Given the description of an element on the screen output the (x, y) to click on. 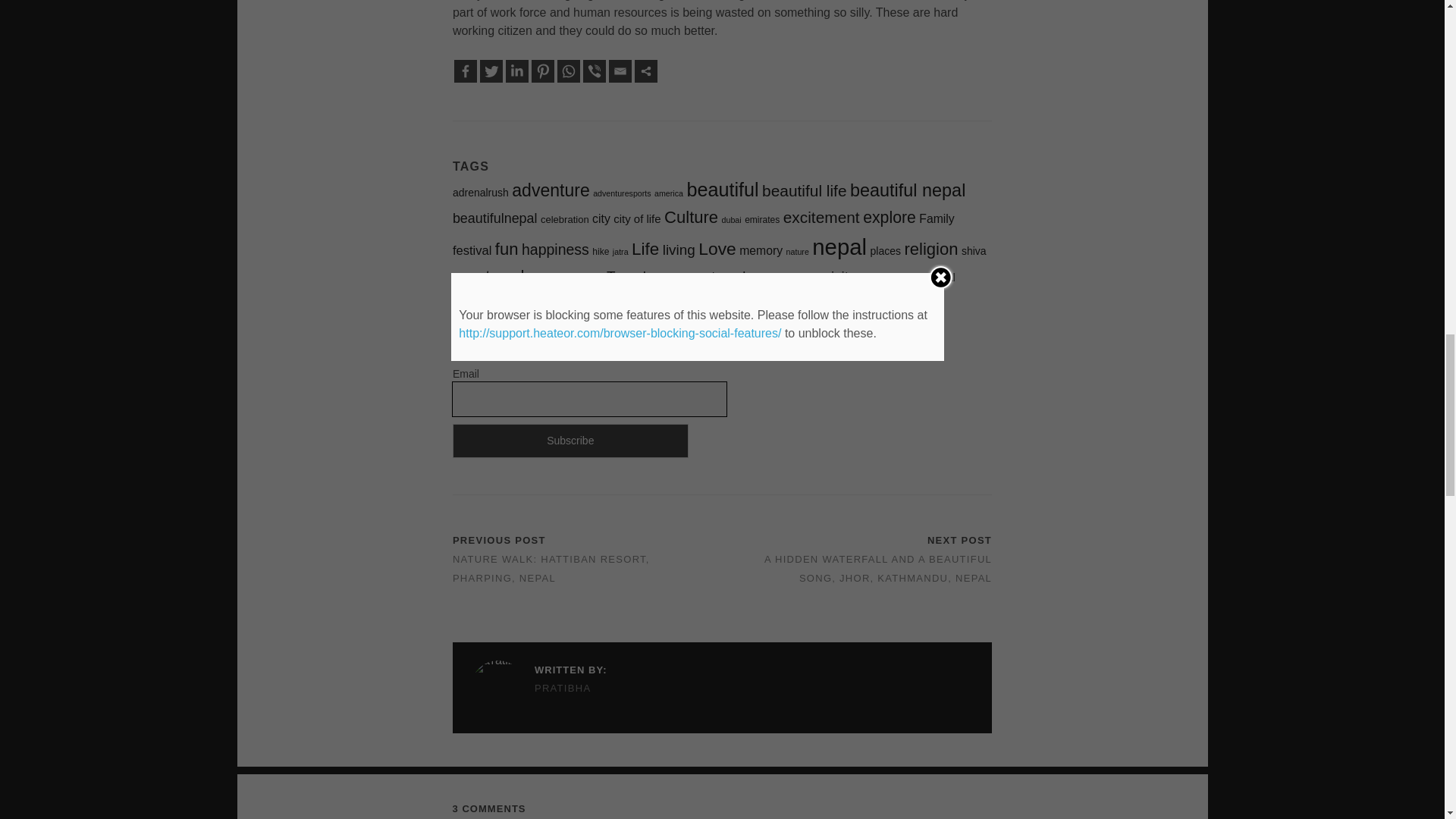
Subscribe (570, 440)
Family (935, 218)
Facebook (465, 70)
city (601, 218)
Email (619, 70)
beautifulnepal (494, 218)
Twitter (491, 70)
festival (472, 250)
dubai (731, 219)
emirates (761, 219)
adrenalrush (480, 192)
celebration (564, 219)
city of life (636, 218)
america (667, 193)
beautiful (721, 189)
